Given the description of an element on the screen output the (x, y) to click on. 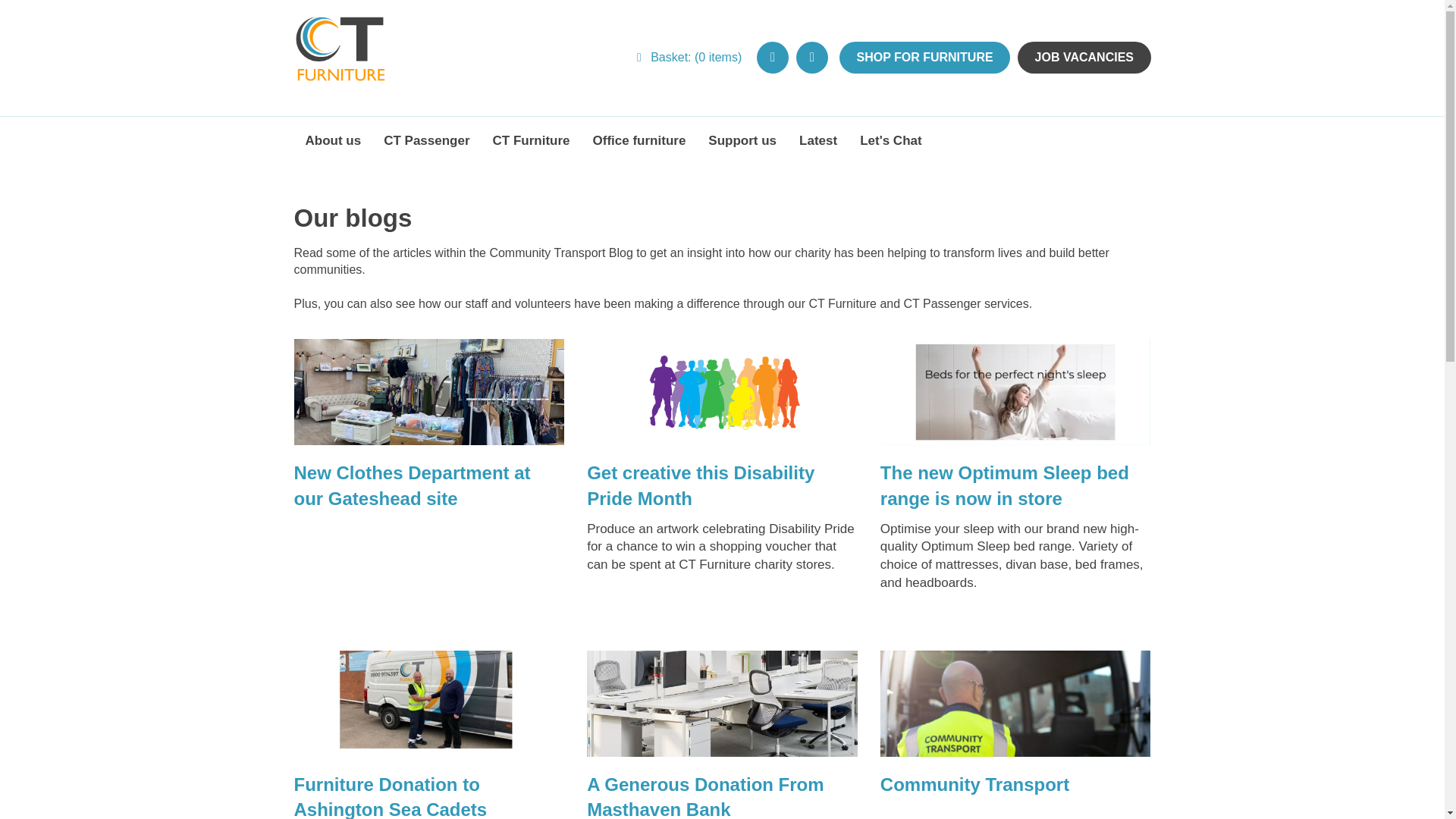
About us (333, 141)
Facebook (812, 57)
Read: Furniture Donation to Ashington Sea Cadets (429, 703)
Read: A Generous Donation From Masthaven Bank (721, 703)
Let's Chat drop down menu (890, 141)
Latest (817, 141)
Support us drop down menu (742, 141)
Read: The new Optimum Sleep bed range is now in store (1015, 392)
Twitter (773, 57)
Read: Get creative this Disability Pride Month (721, 392)
Home (339, 60)
CT Passenger drop down menu (426, 141)
Office furniture (638, 141)
CT Furniture drop down menu (530, 141)
CT Passenger (426, 141)
